Given the description of an element on the screen output the (x, y) to click on. 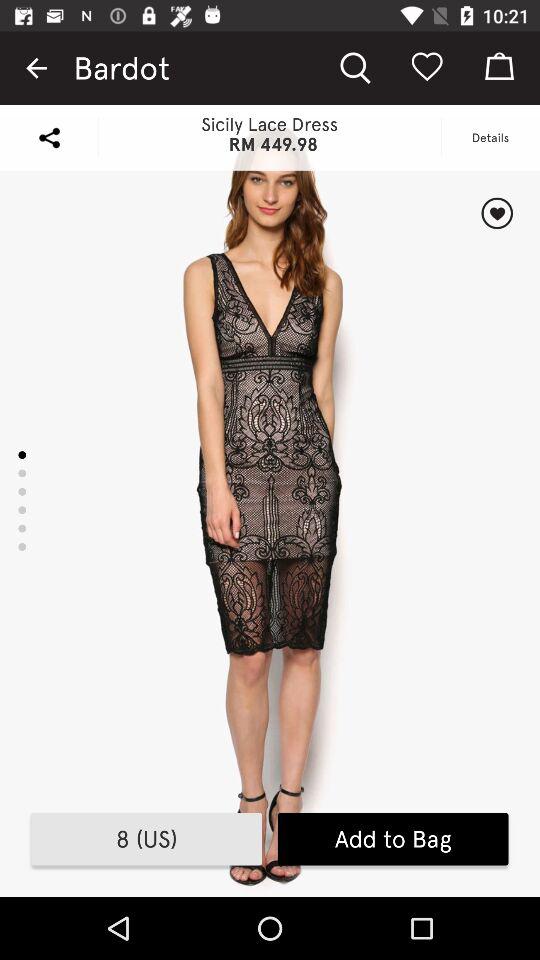
like/favorite item (496, 213)
